Given the description of an element on the screen output the (x, y) to click on. 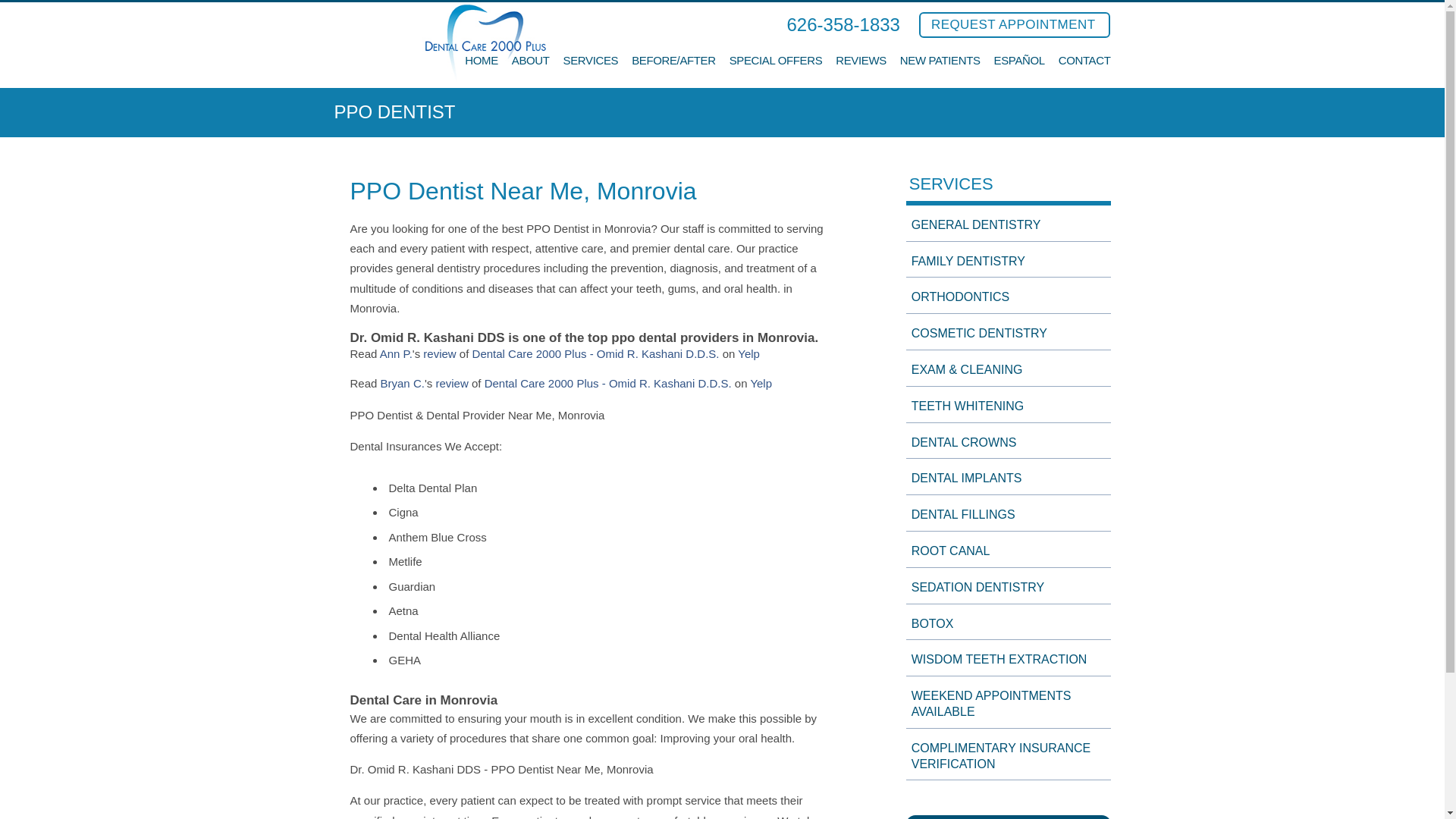
Ann P. (396, 353)
SPECIAL OFFERS (775, 70)
HOME (480, 70)
review (439, 353)
NEW PATIENTS (939, 70)
Dental Care 2000 Plus - Omid R. Kashani D.D.S. (595, 353)
REVIEWS (860, 70)
SERVICES (590, 70)
626-358-1833 (843, 24)
CONTACT (1084, 70)
